Given the description of an element on the screen output the (x, y) to click on. 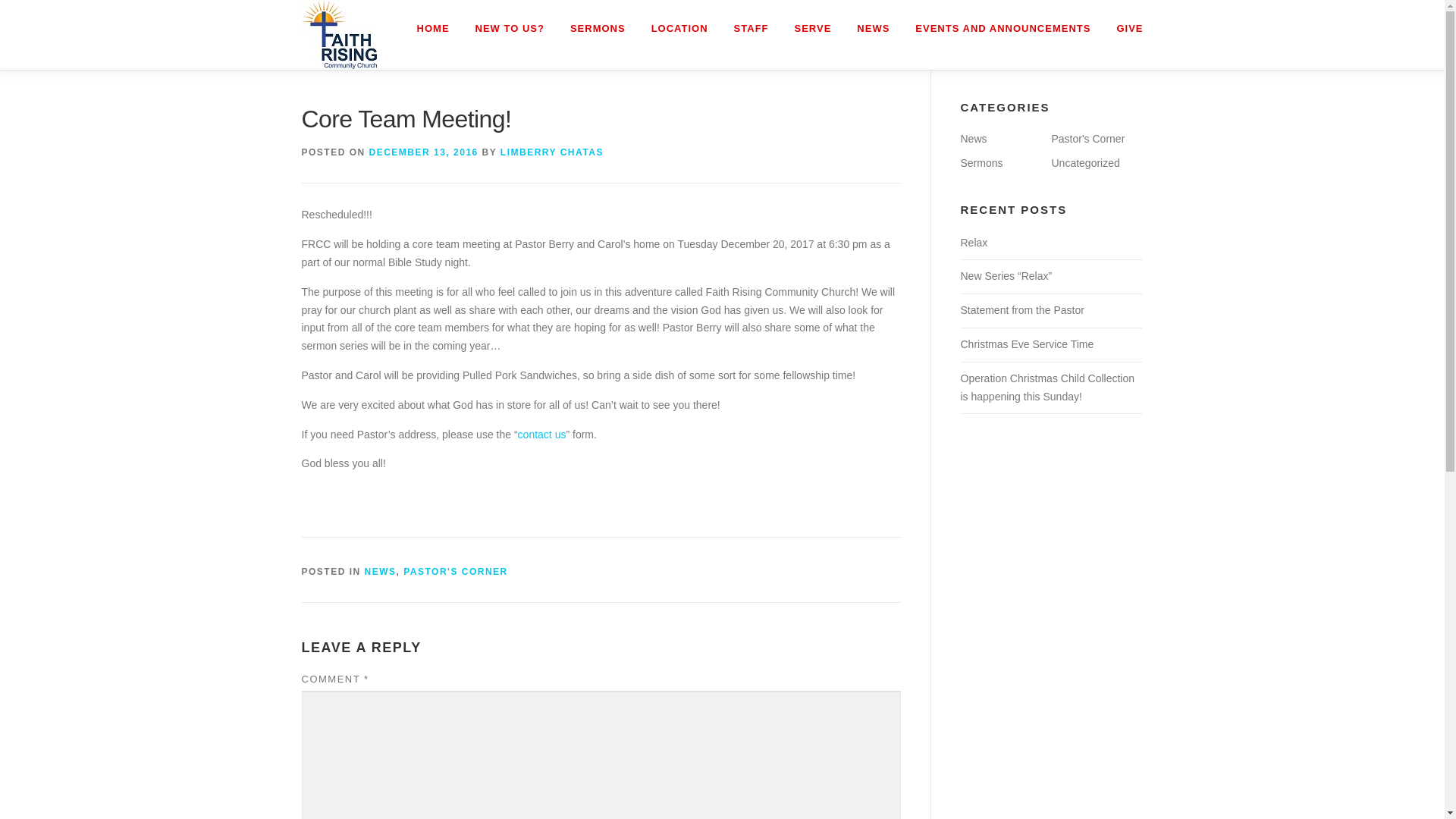
PASTOR'S CORNER (455, 571)
Pastor's Corner (1087, 138)
STAFF (750, 28)
NEW TO US? (510, 28)
SERMONS (598, 28)
Relax (973, 242)
LOCATION (679, 28)
NEWS (380, 571)
HOME (433, 28)
EVENTS AND ANNOUNCEMENTS (1002, 28)
